Given the description of an element on the screen output the (x, y) to click on. 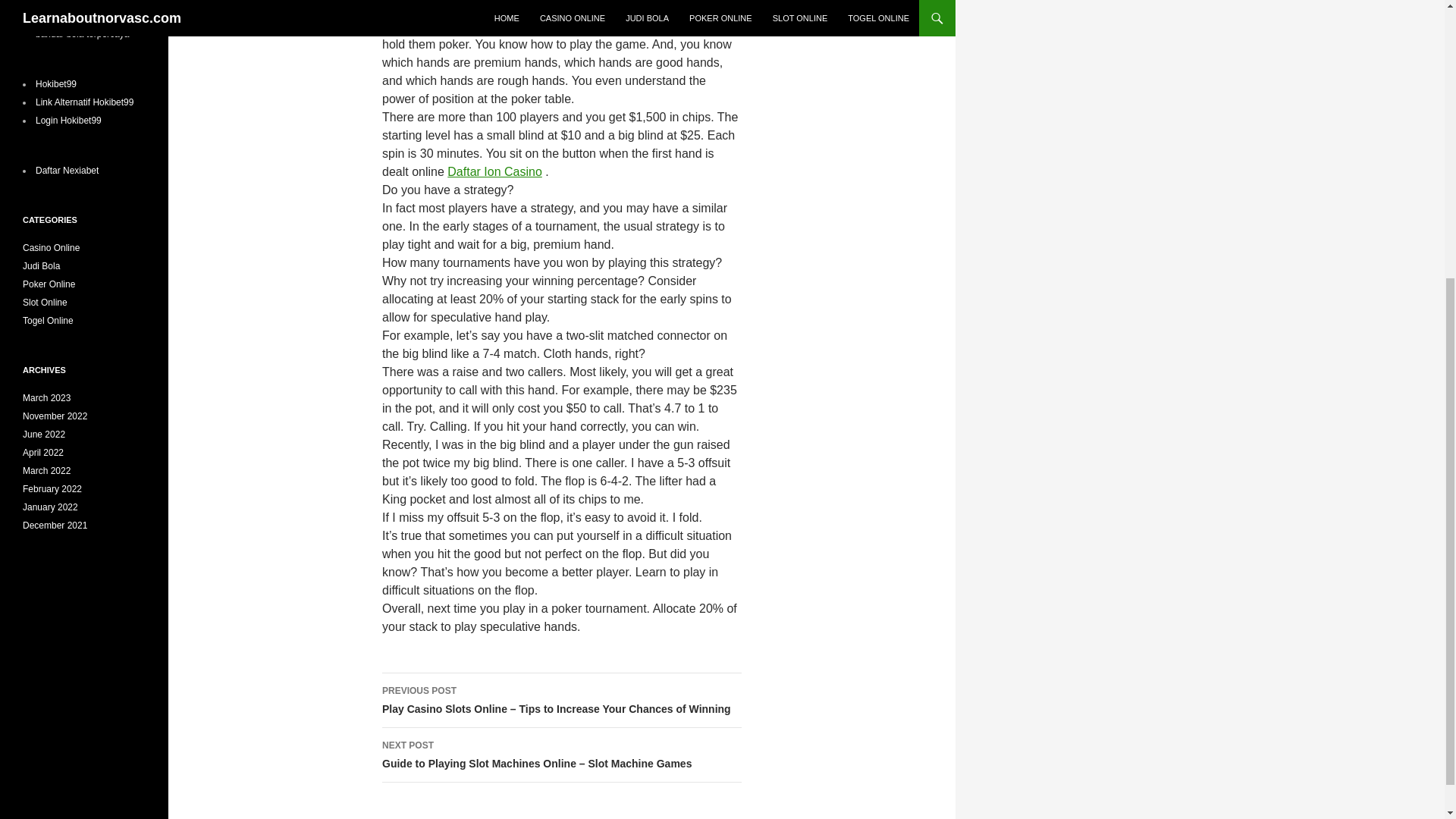
Hokibet99 (55, 83)
Judi Bola (41, 266)
bandar bola terpercaya (81, 33)
Togel Online (48, 320)
Casino Online (51, 247)
Poker Online (49, 284)
Link Alternatif Starbet99 (83, 1)
Daftar Nexiabet (66, 170)
Login Starbet99 (67, 15)
Daftar Ion Casino (493, 171)
